Given the description of an element on the screen output the (x, y) to click on. 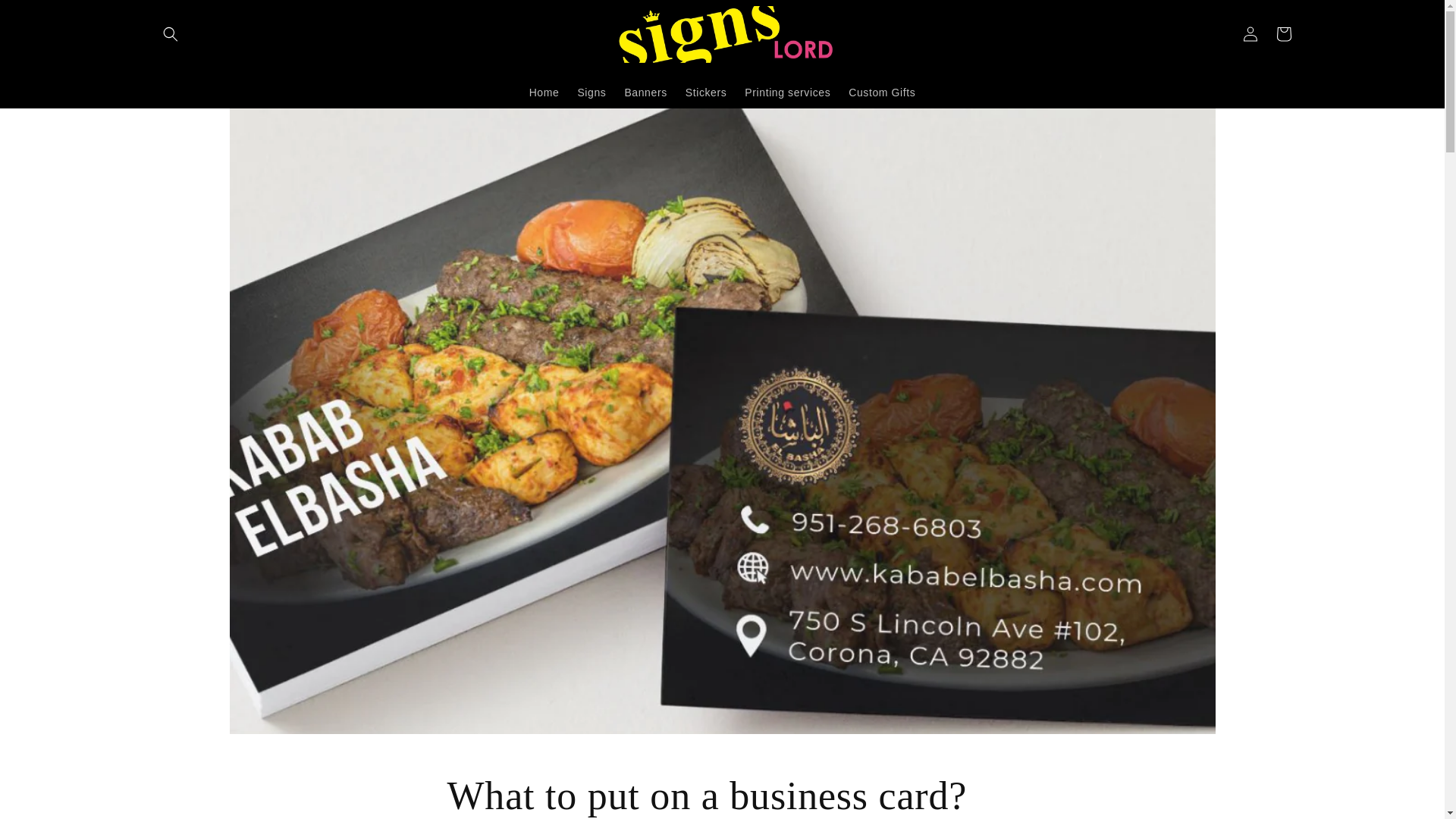
Home (544, 91)
Signs (590, 91)
Custom Gifts (882, 91)
Cart (1283, 33)
Stickers (706, 91)
Banners (644, 91)
Printing services (787, 91)
Log in (1249, 33)
Skip to content (45, 17)
